Given the description of an element on the screen output the (x, y) to click on. 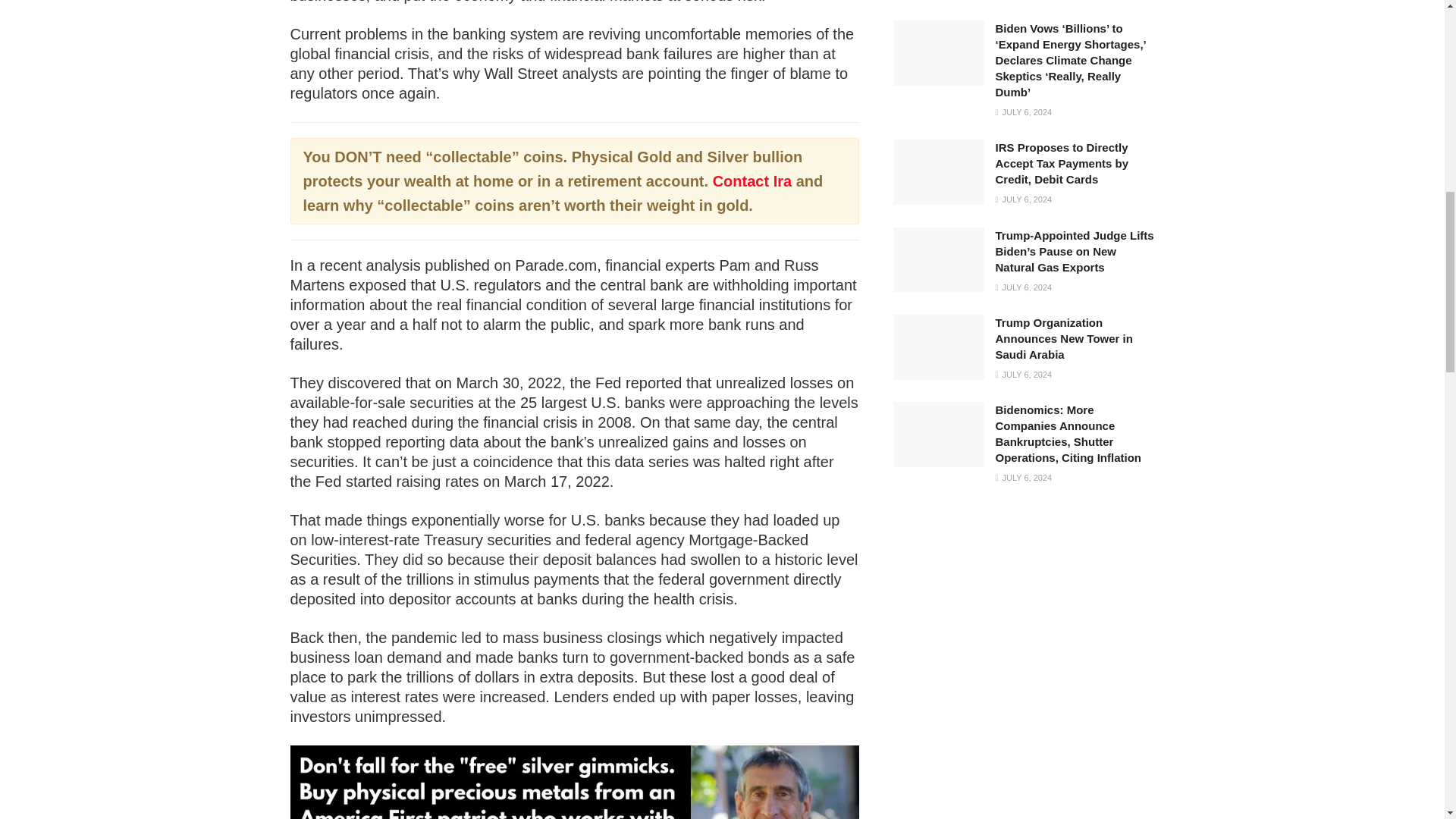
Contact Ira (752, 180)
